Given the description of an element on the screen output the (x, y) to click on. 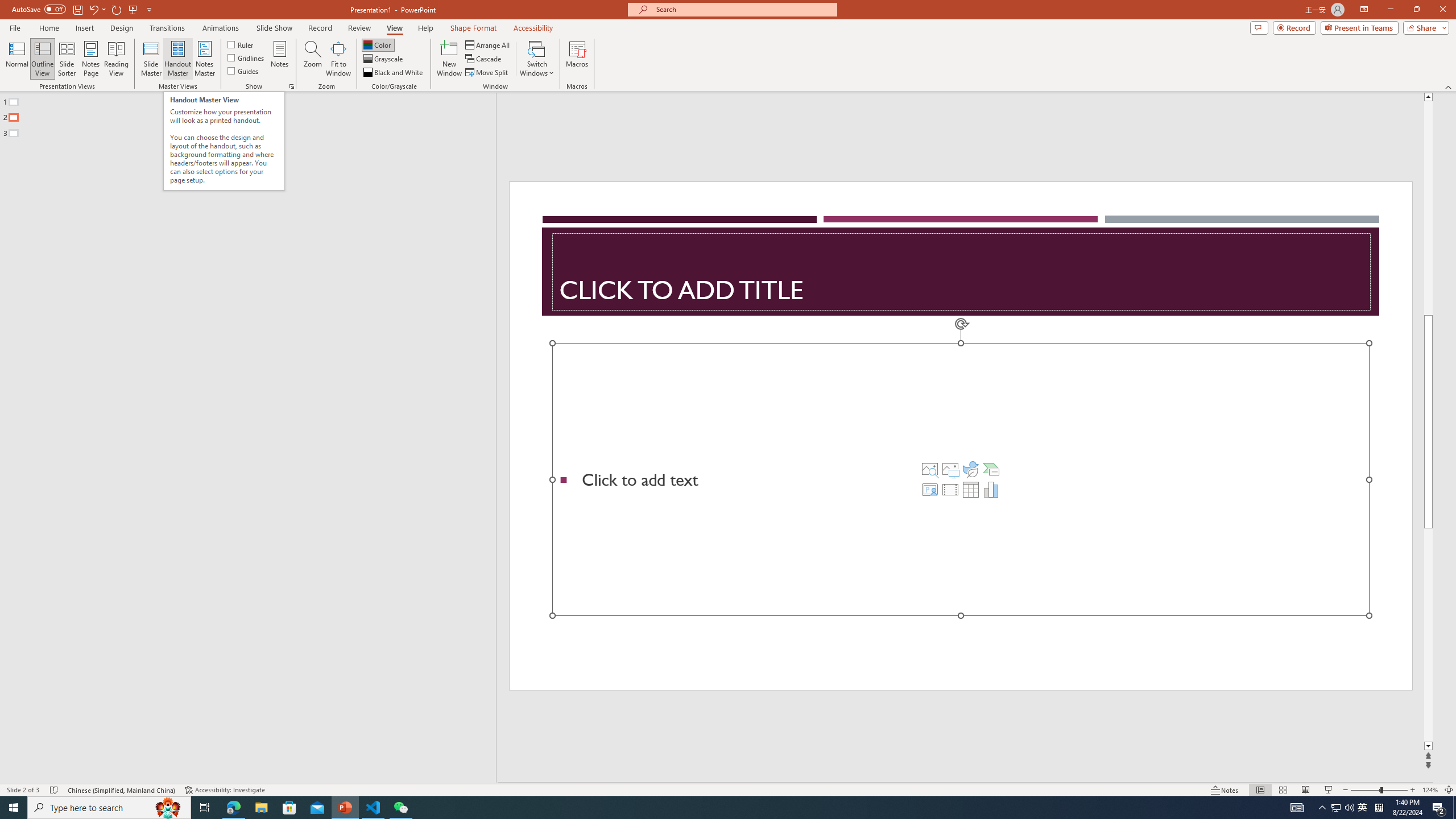
Content Placeholder (960, 479)
Handout Master (177, 58)
New Window (449, 58)
